Given the description of an element on the screen output the (x, y) to click on. 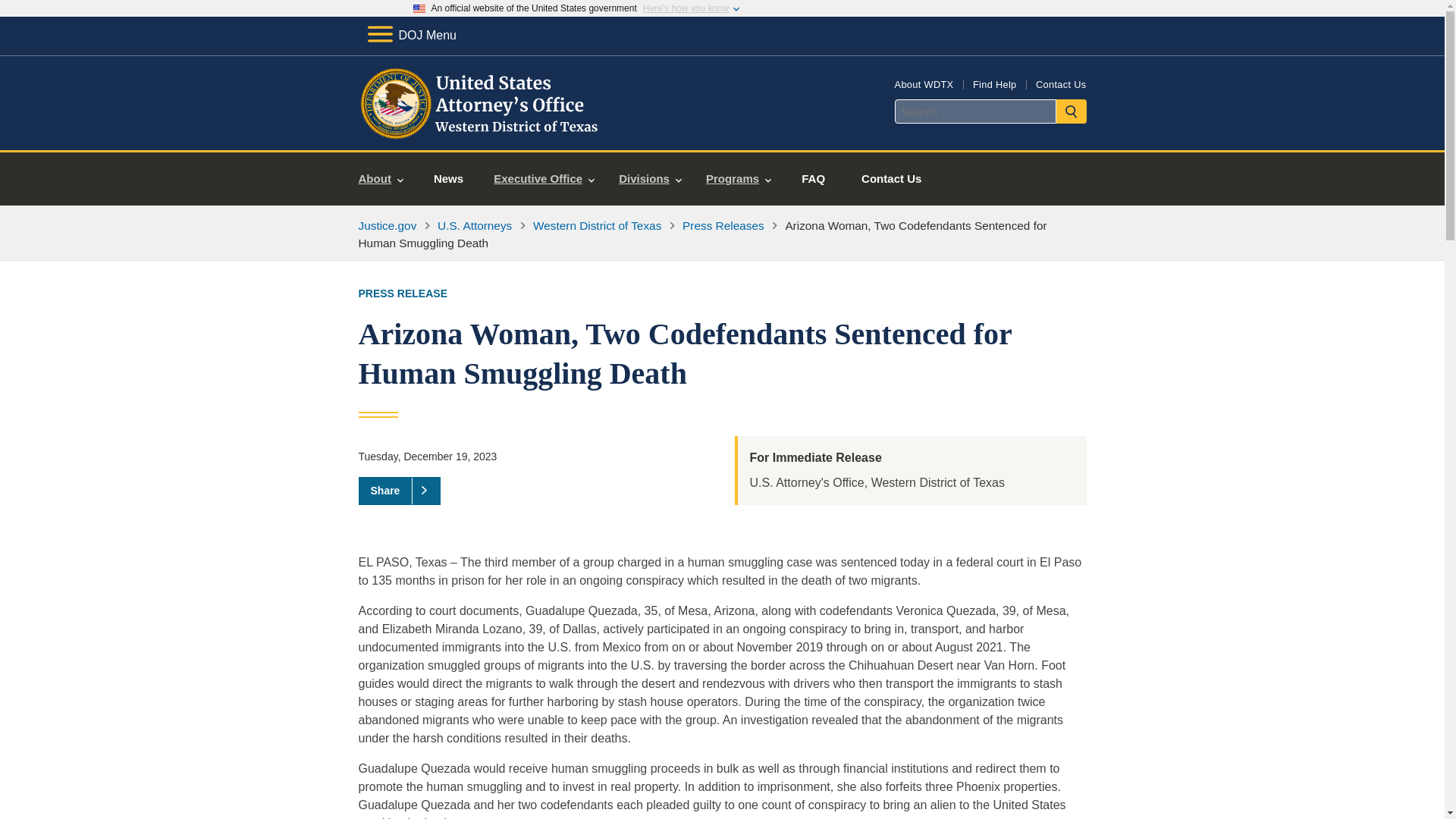
Justice.gov (387, 225)
FAQ (813, 179)
U.S. Attorneys (475, 225)
Home (481, 132)
Here's how you know (686, 8)
Contact Us (891, 179)
Western District of Texas (596, 225)
Find Help (994, 84)
News (447, 179)
Divisions (650, 179)
